Given the description of an element on the screen output the (x, y) to click on. 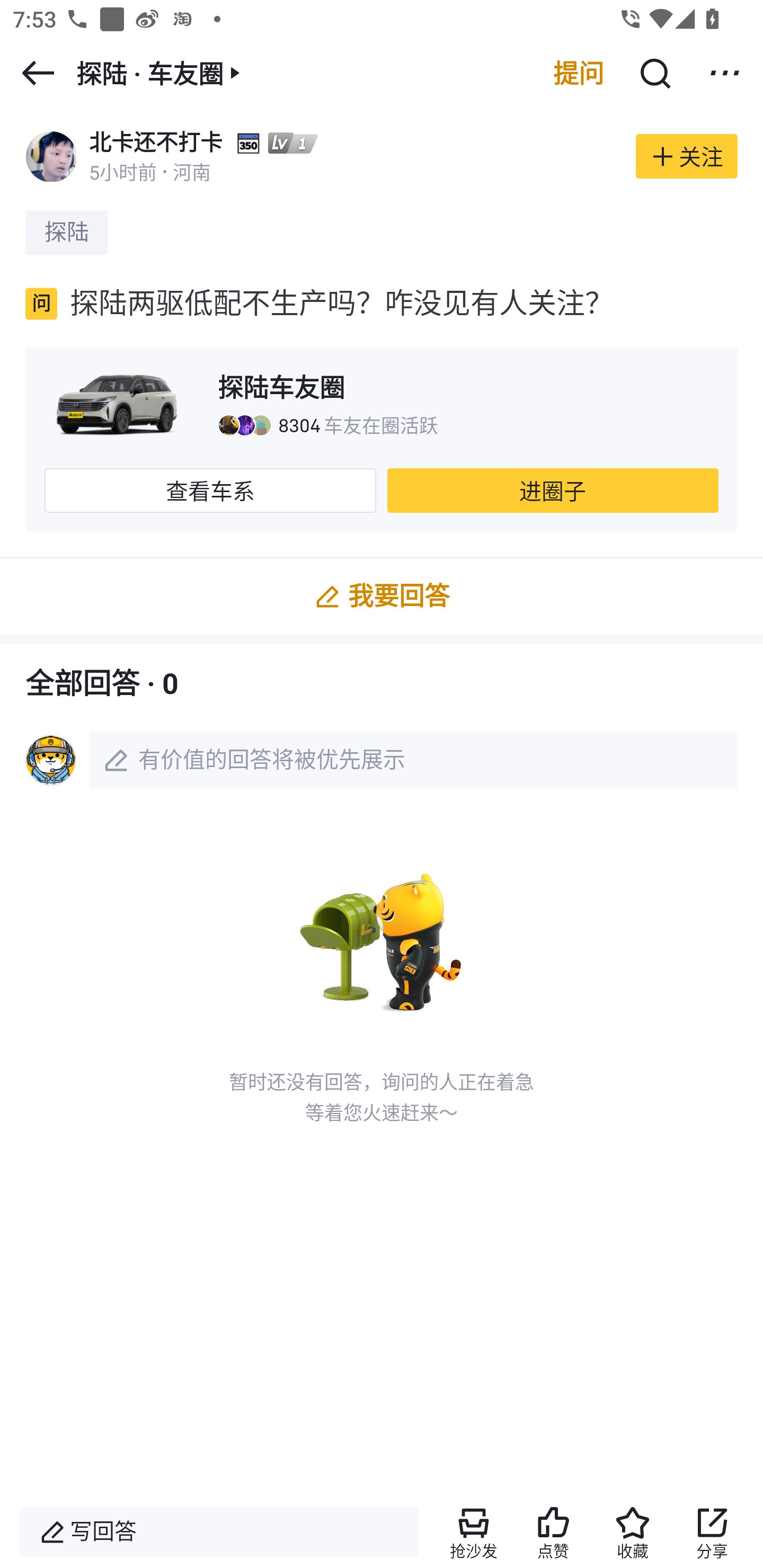
 (38, 72)
提问 (578, 72)
 (654, 72)
 (724, 72)
探陆  · 车友圈 (160, 73)
北卡还不打卡 (155, 142)
 关注 (686, 155)
探陆 (66, 232)
探陆车友圈 8304 车友在圈活跃 查看车系 进圈子 (381, 439)
查看车系 (210, 490)
我要回答 (381, 595)
 有价值的回答将被优先展示 (381, 759)
暂时还没有回答，询问的人正在着急
等着您火速赶来～ (381, 991)
 抢沙发 (473, 1531)
点赞 (553, 1531)
收藏 (632, 1531)
 分享 (711, 1531)
 写回答 (218, 1531)
